Given the description of an element on the screen output the (x, y) to click on. 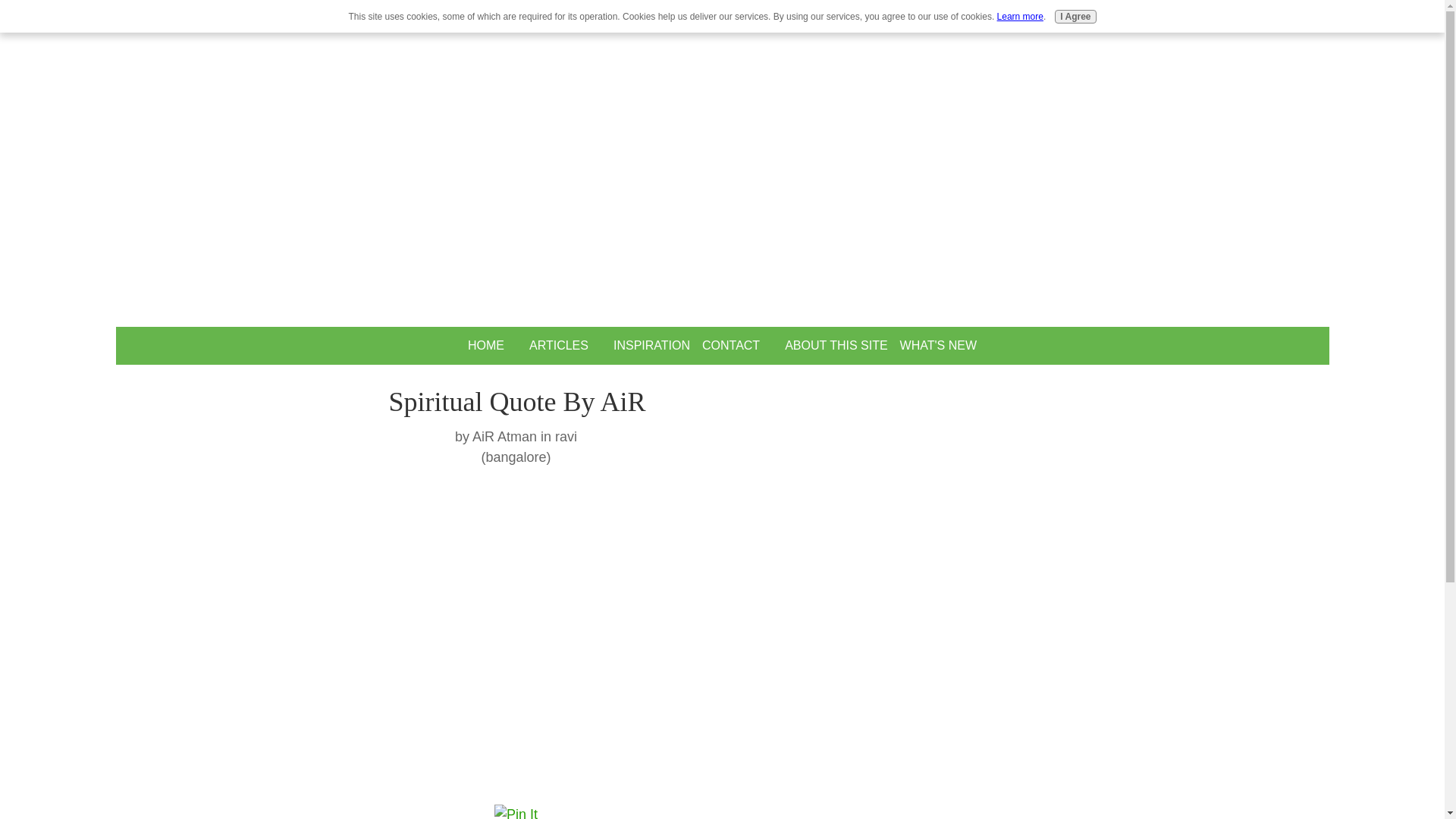
Pin It (516, 811)
Learn more (1020, 16)
CONTACT (730, 345)
I Agree (1075, 16)
WHAT'S NEW (937, 345)
HOME (486, 345)
